Given the description of an element on the screen output the (x, y) to click on. 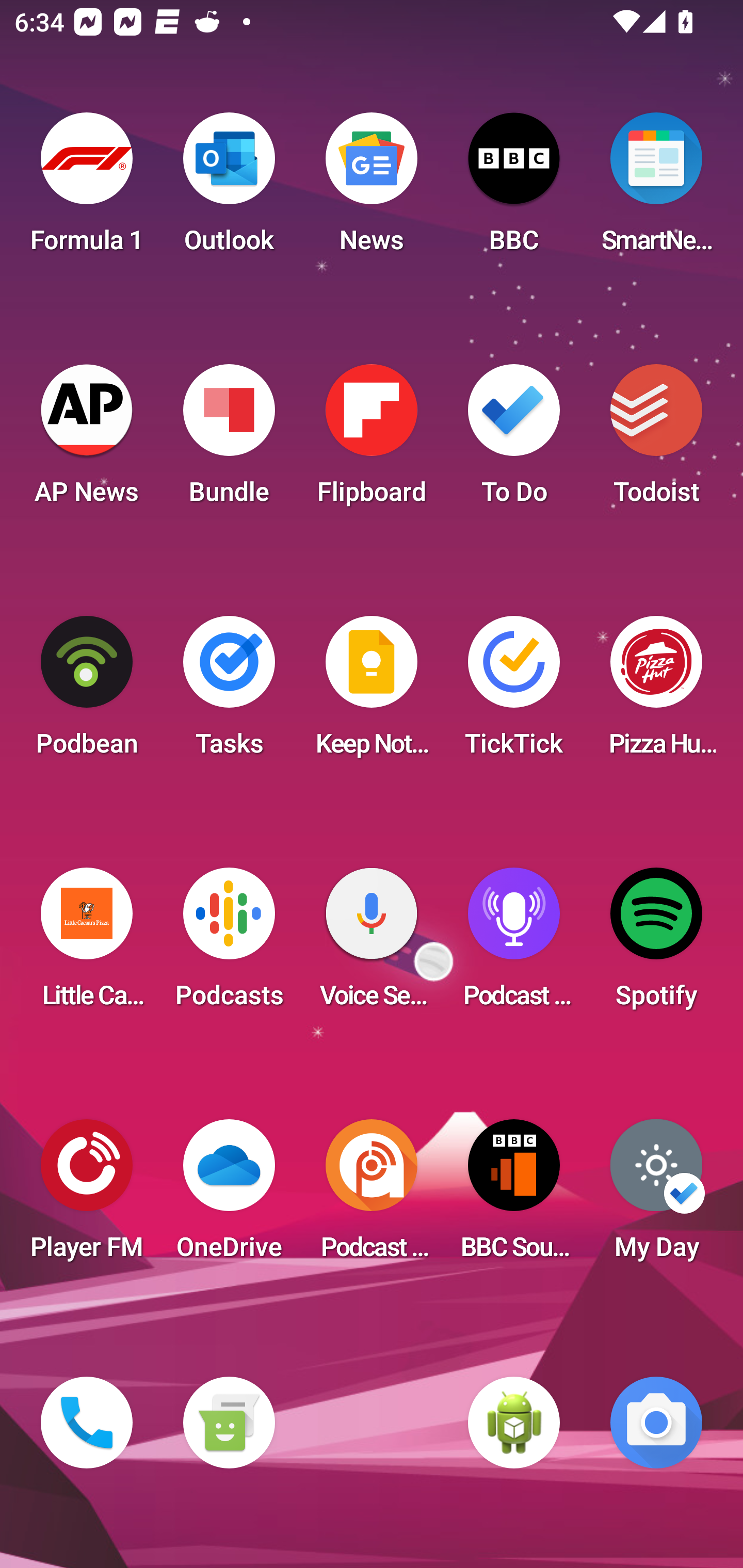
Formula 1 (86, 188)
Outlook (228, 188)
News (371, 188)
BBC (513, 188)
SmartNews (656, 188)
AP News (86, 440)
Bundle (228, 440)
Flipboard (371, 440)
To Do (513, 440)
Todoist (656, 440)
Podbean (86, 692)
Tasks (228, 692)
Keep Notes (371, 692)
TickTick (513, 692)
Pizza Hut HK & Macau (656, 692)
Little Caesars Pizza (86, 943)
Podcasts (228, 943)
Voice Search (371, 943)
Podcast Player (513, 943)
Spotify (656, 943)
Player FM (86, 1195)
OneDrive (228, 1195)
Podcast Addict (371, 1195)
BBC Sounds (513, 1195)
My Day (656, 1195)
Phone (86, 1422)
Messaging (228, 1422)
WebView Browser Tester (513, 1422)
Camera (656, 1422)
